Given the description of an element on the screen output the (x, y) to click on. 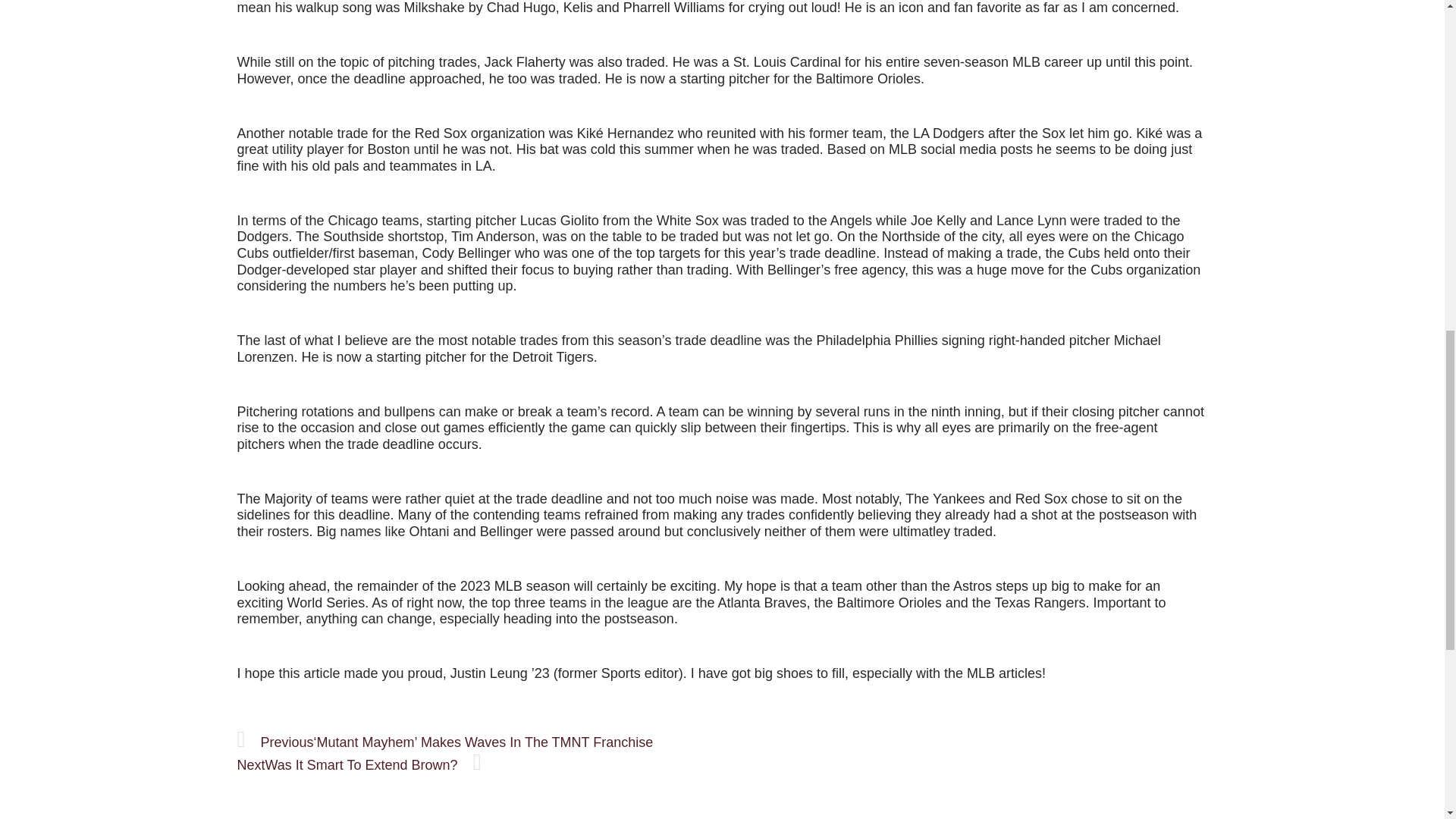
NextWas It Smart To Extend Brown? (357, 765)
